Given the description of an element on the screen output the (x, y) to click on. 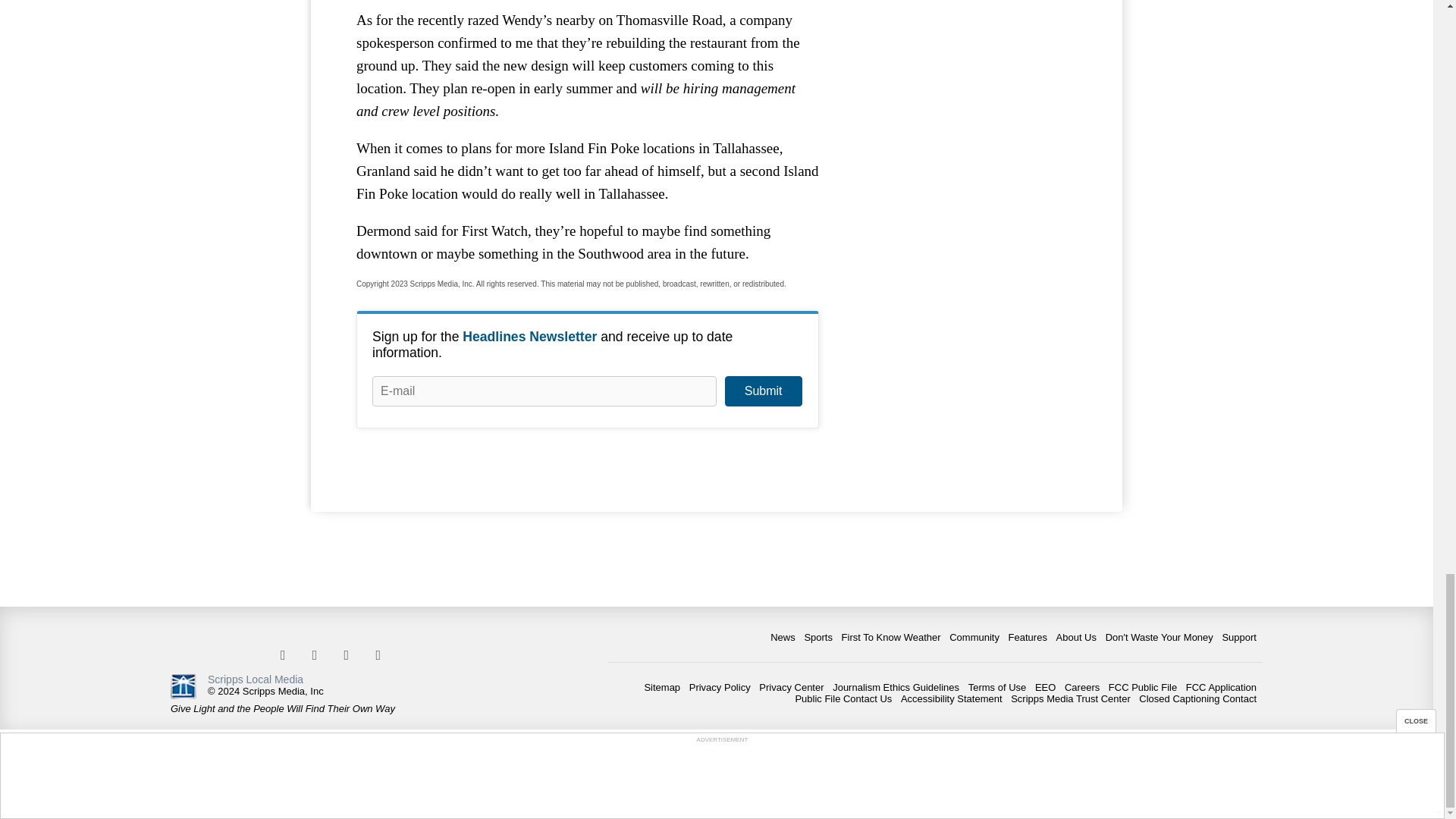
Submit (763, 390)
